Given the description of an element on the screen output the (x, y) to click on. 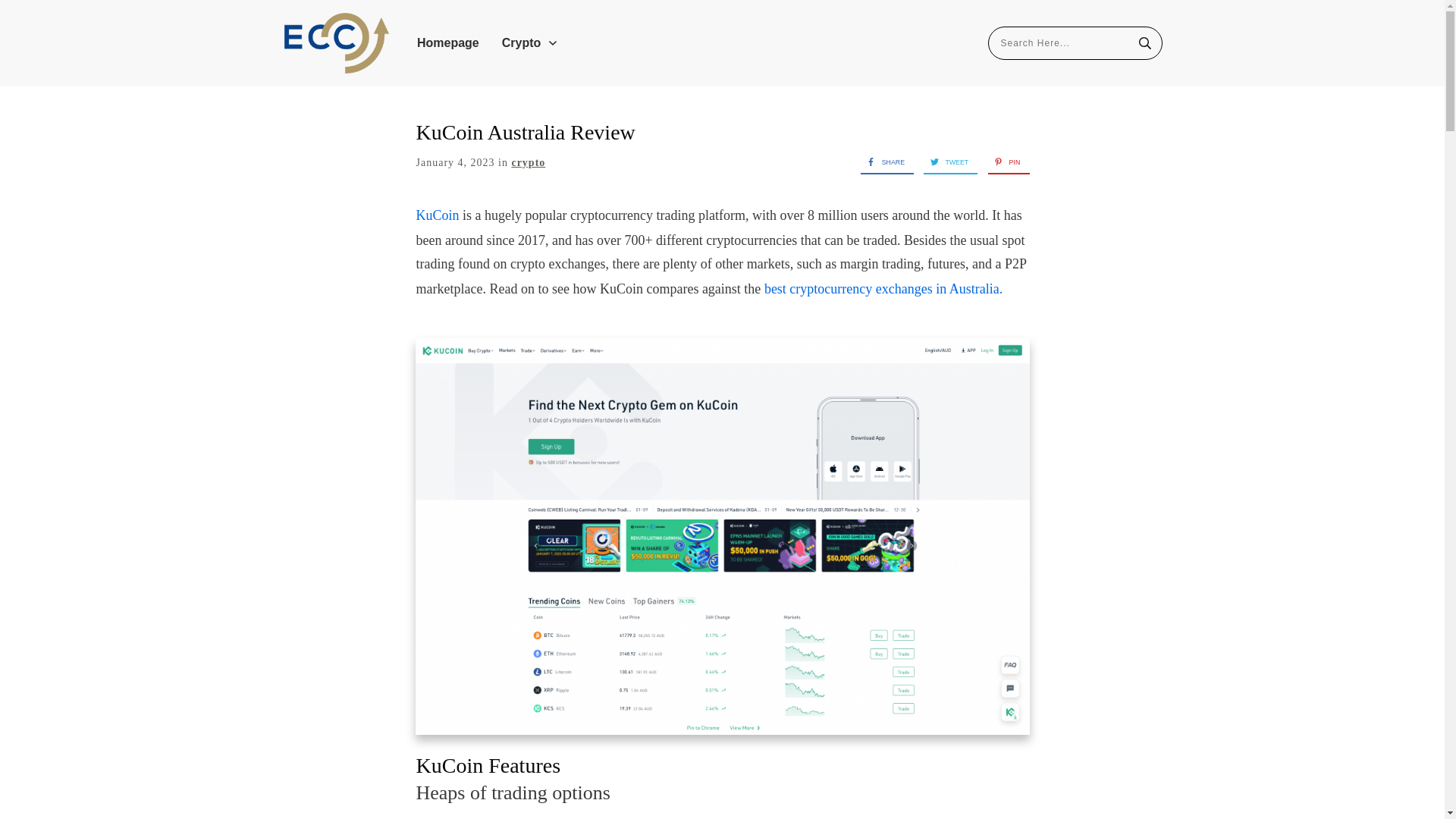
KuCoin Australia Review (524, 132)
Crypto (530, 43)
Homepage (447, 43)
crypto (527, 162)
